Given the description of an element on the screen output the (x, y) to click on. 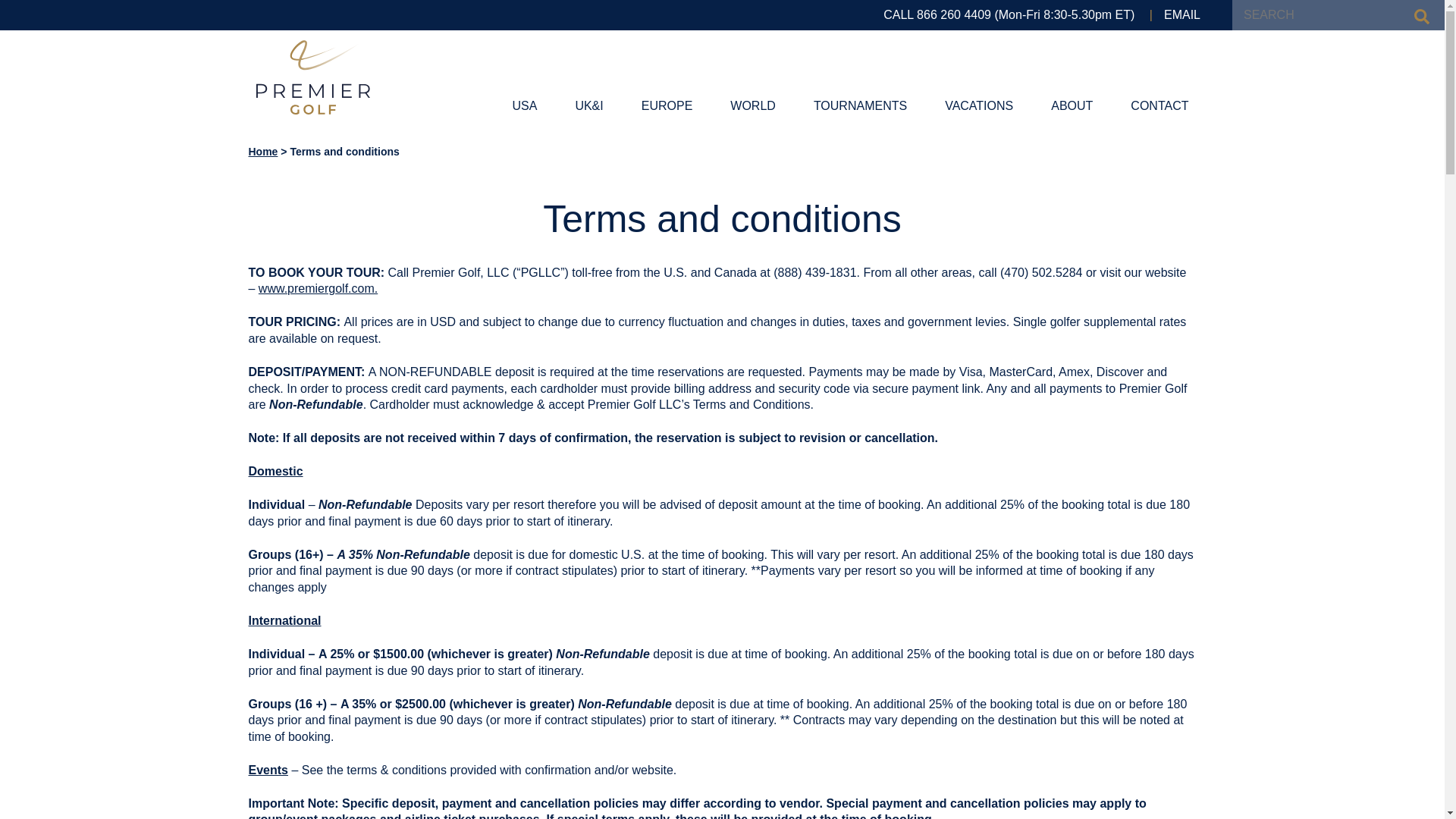
Contact us (1181, 14)
PERFORM SEARCH (1421, 16)
Go back to the homepage (312, 77)
USA (524, 105)
